Given the description of an element on the screen output the (x, y) to click on. 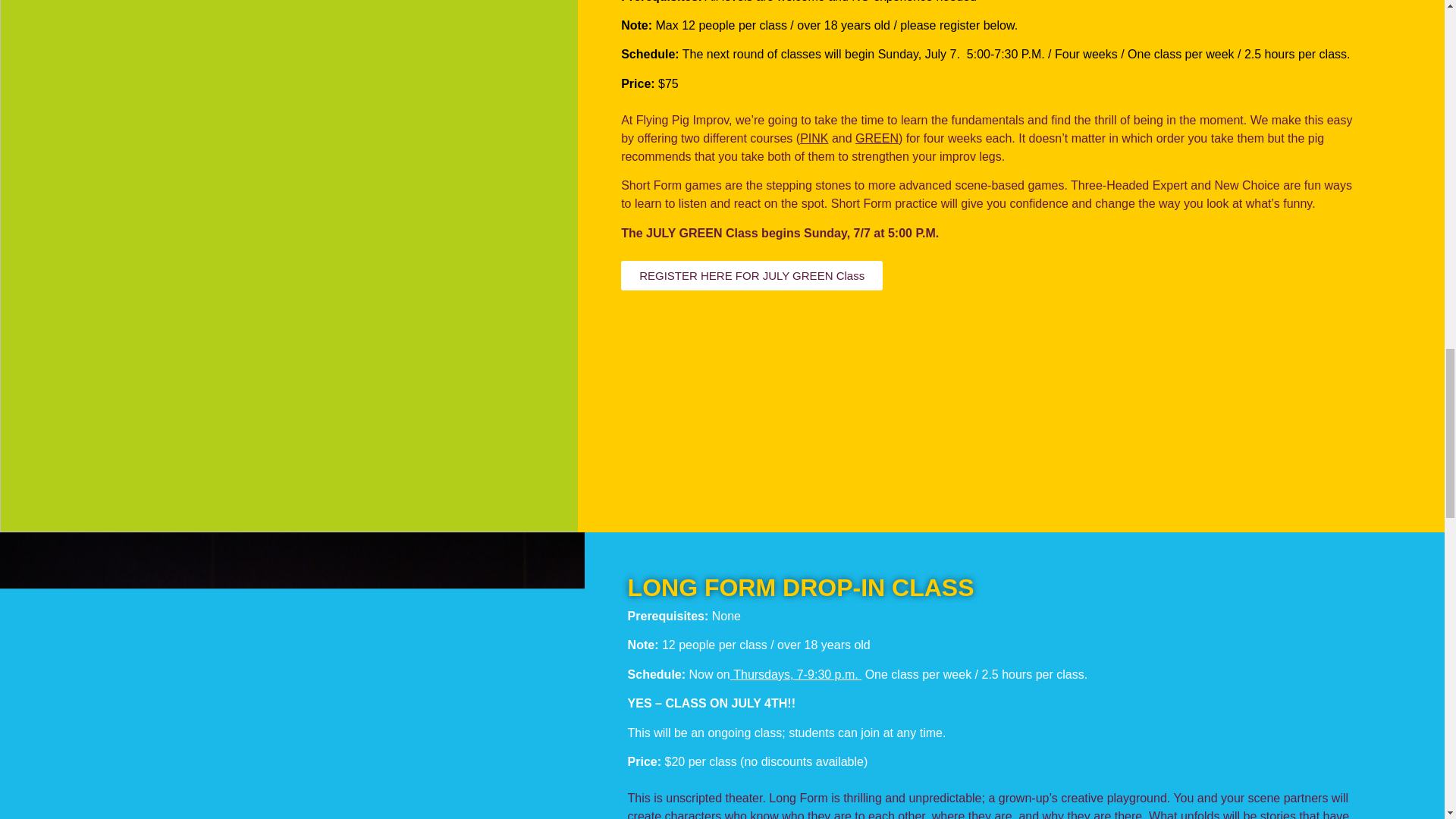
Page 5 (989, 176)
PINK (813, 137)
Page 5 (989, 54)
REGISTER HERE FOR JULY GREEN Class (751, 275)
GREEN (877, 137)
